Given the description of an element on the screen output the (x, y) to click on. 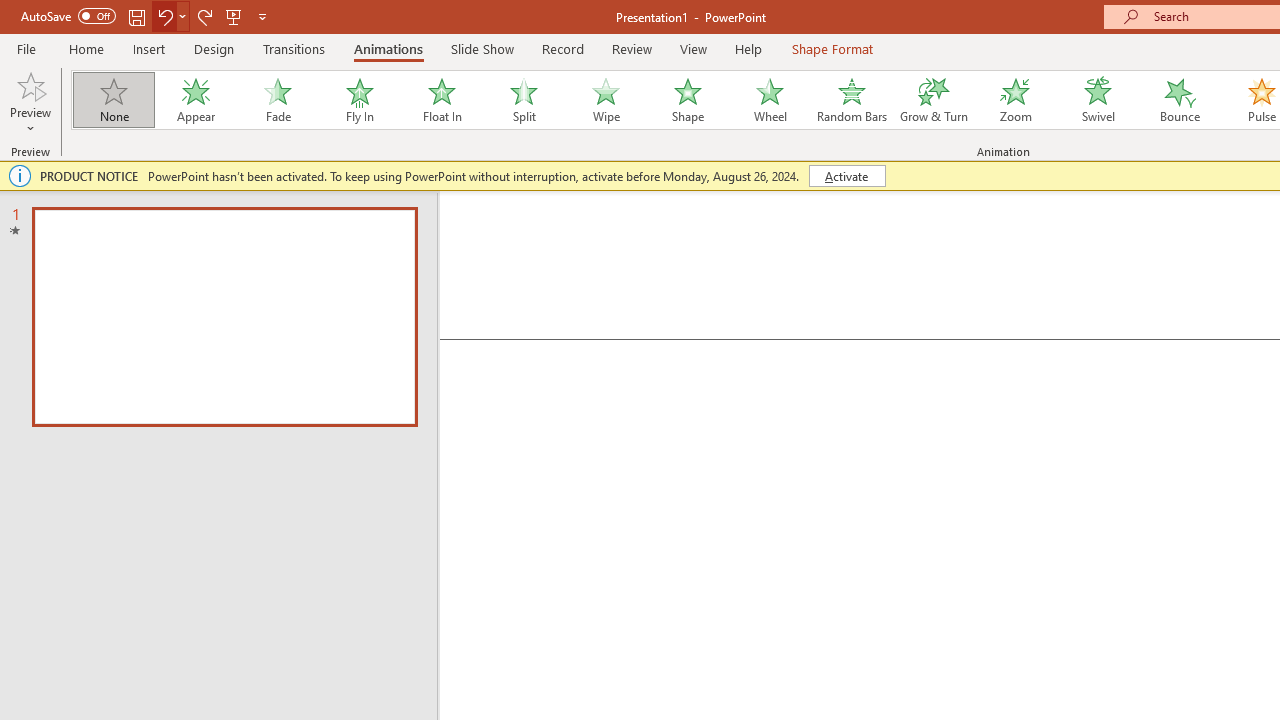
Swivel (1098, 100)
Wheel (770, 100)
Split (523, 100)
Shape (687, 100)
Fly In (359, 100)
